Given the description of an element on the screen output the (x, y) to click on. 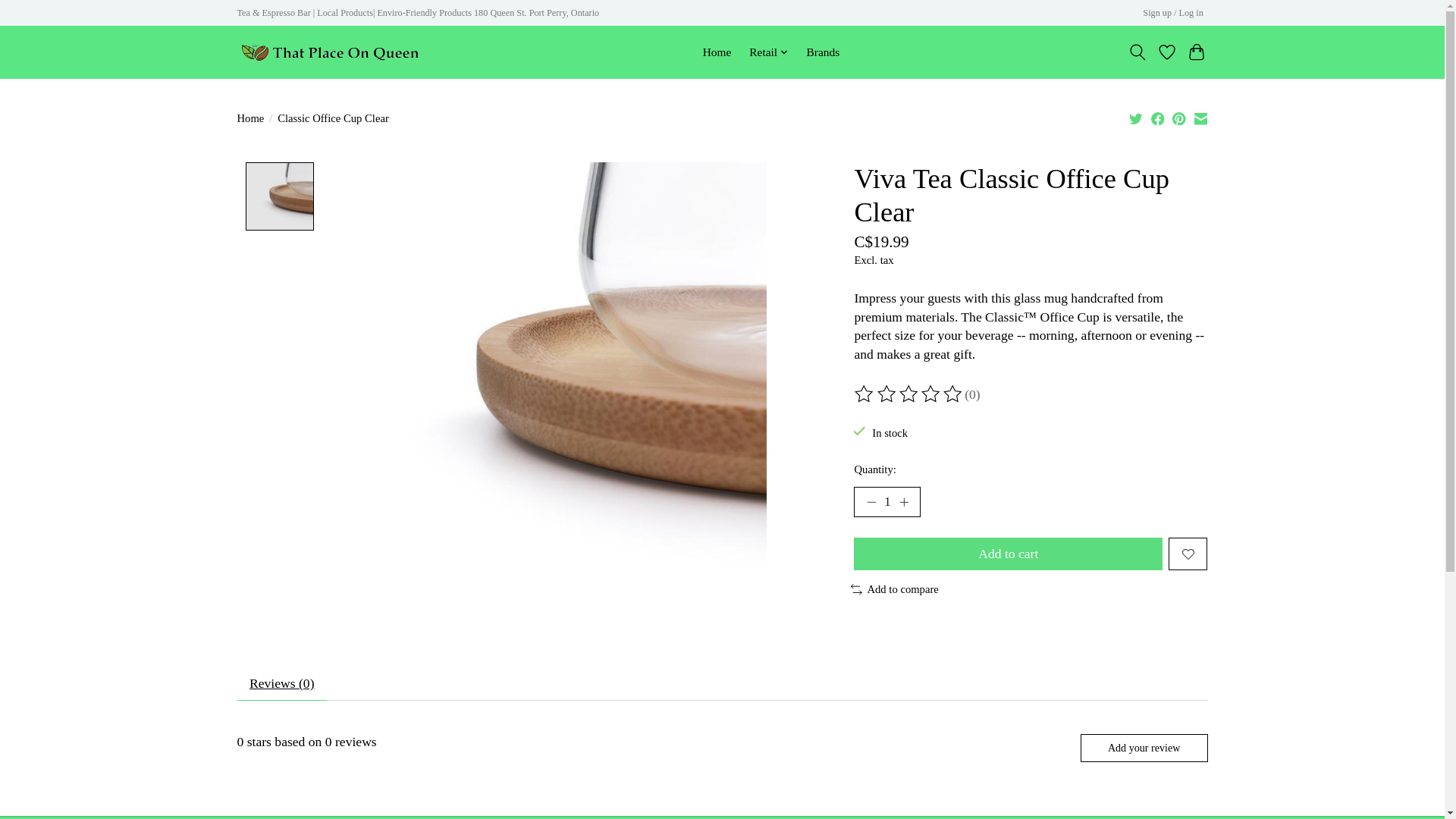
Home (716, 52)
1 (886, 501)
Share on Twitter (1135, 118)
My account (1173, 13)
That Place On Queen (328, 51)
Share on Facebook (1157, 118)
Share on Pinterest (1178, 118)
Retail (768, 52)
Share by Email (1200, 118)
